Given the description of an element on the screen output the (x, y) to click on. 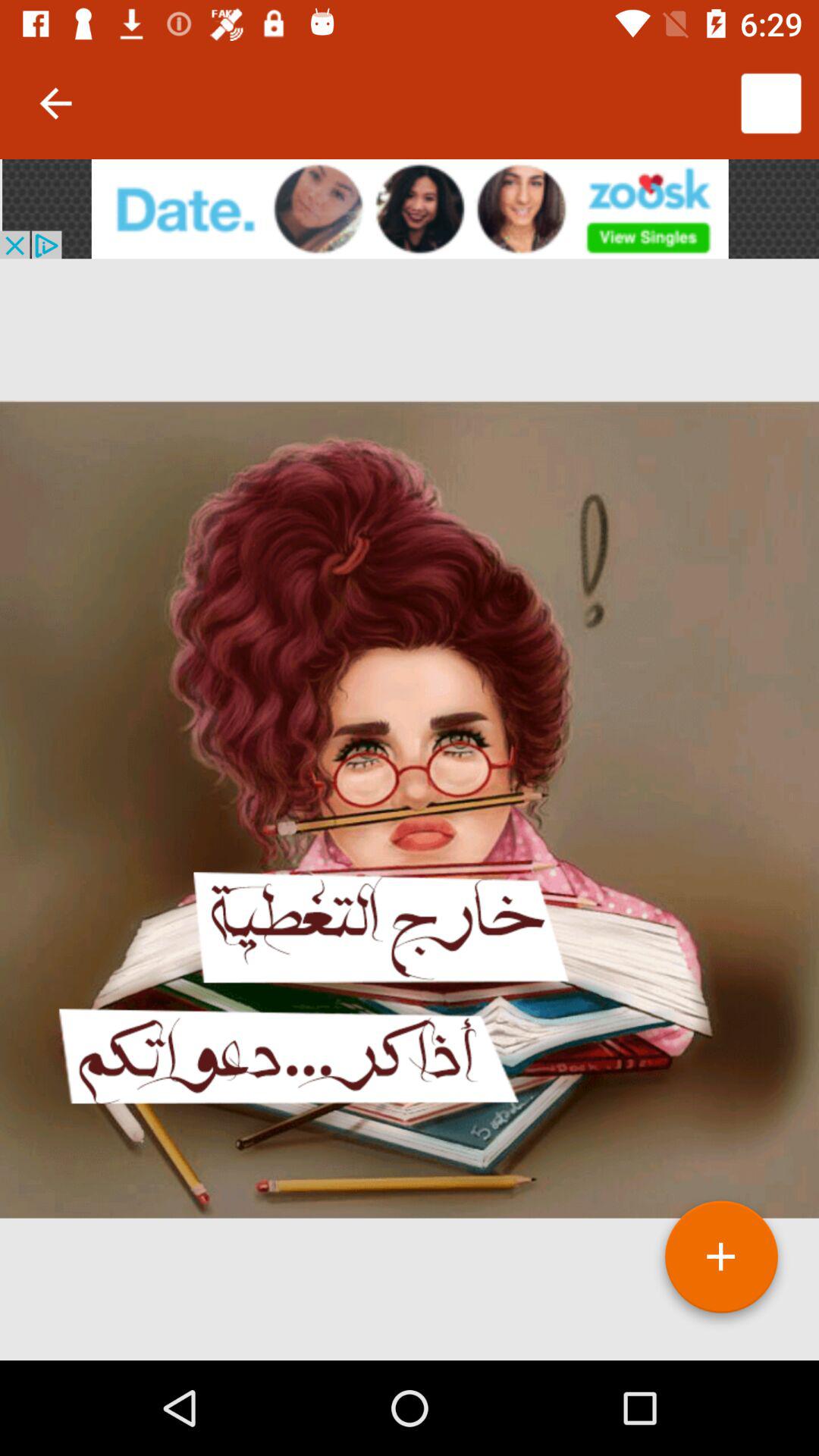
add symbol (721, 1262)
